Given the description of an element on the screen output the (x, y) to click on. 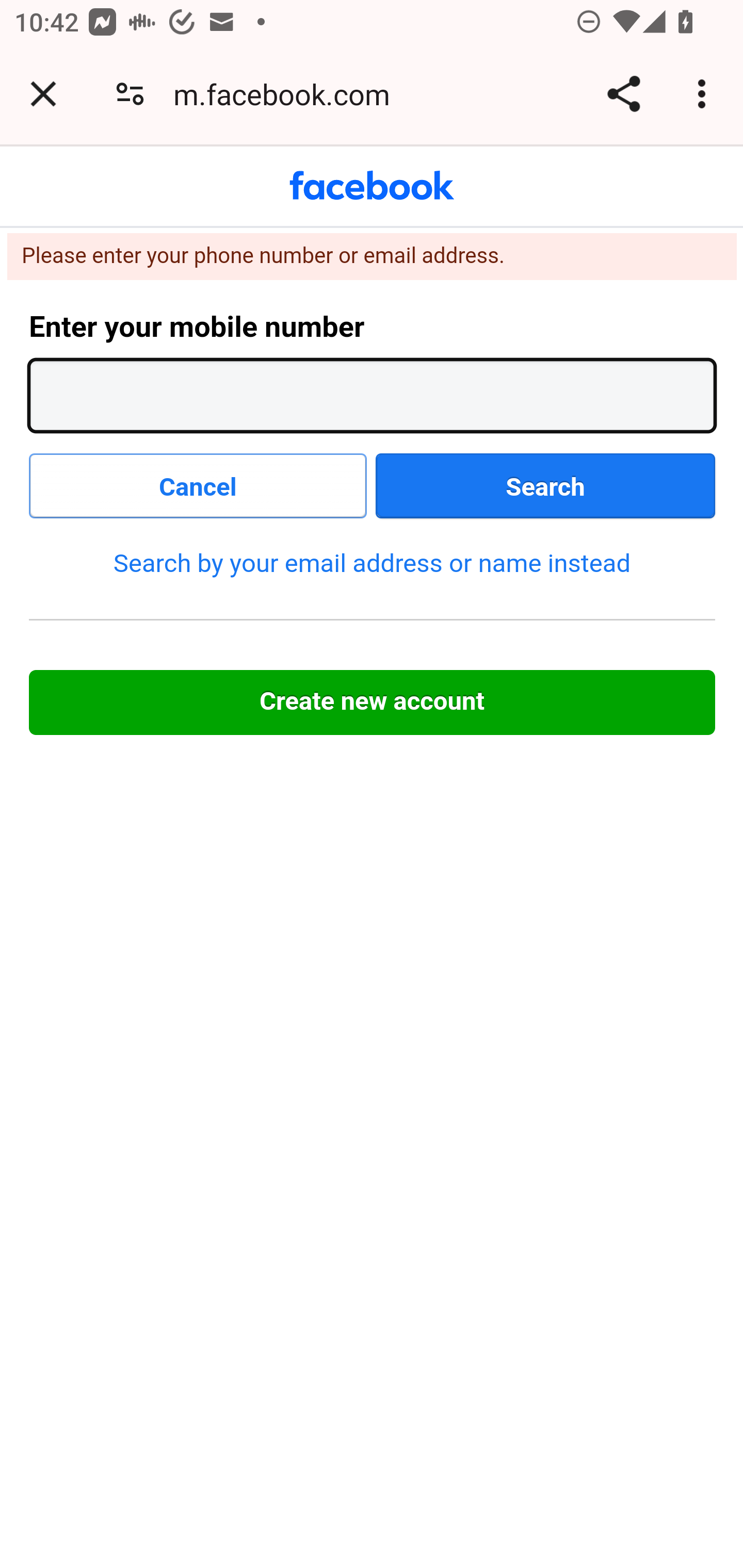
Close tab (43, 93)
Share (623, 93)
Customize and control Google Chrome (705, 93)
Connection is secure (129, 93)
m.facebook.com (288, 93)
Facebook (371, 185)
Cancel (198, 485)
Search (545, 485)
Search by your email address or name instead (372, 562)
Create new account (372, 701)
